Given the description of an element on the screen output the (x, y) to click on. 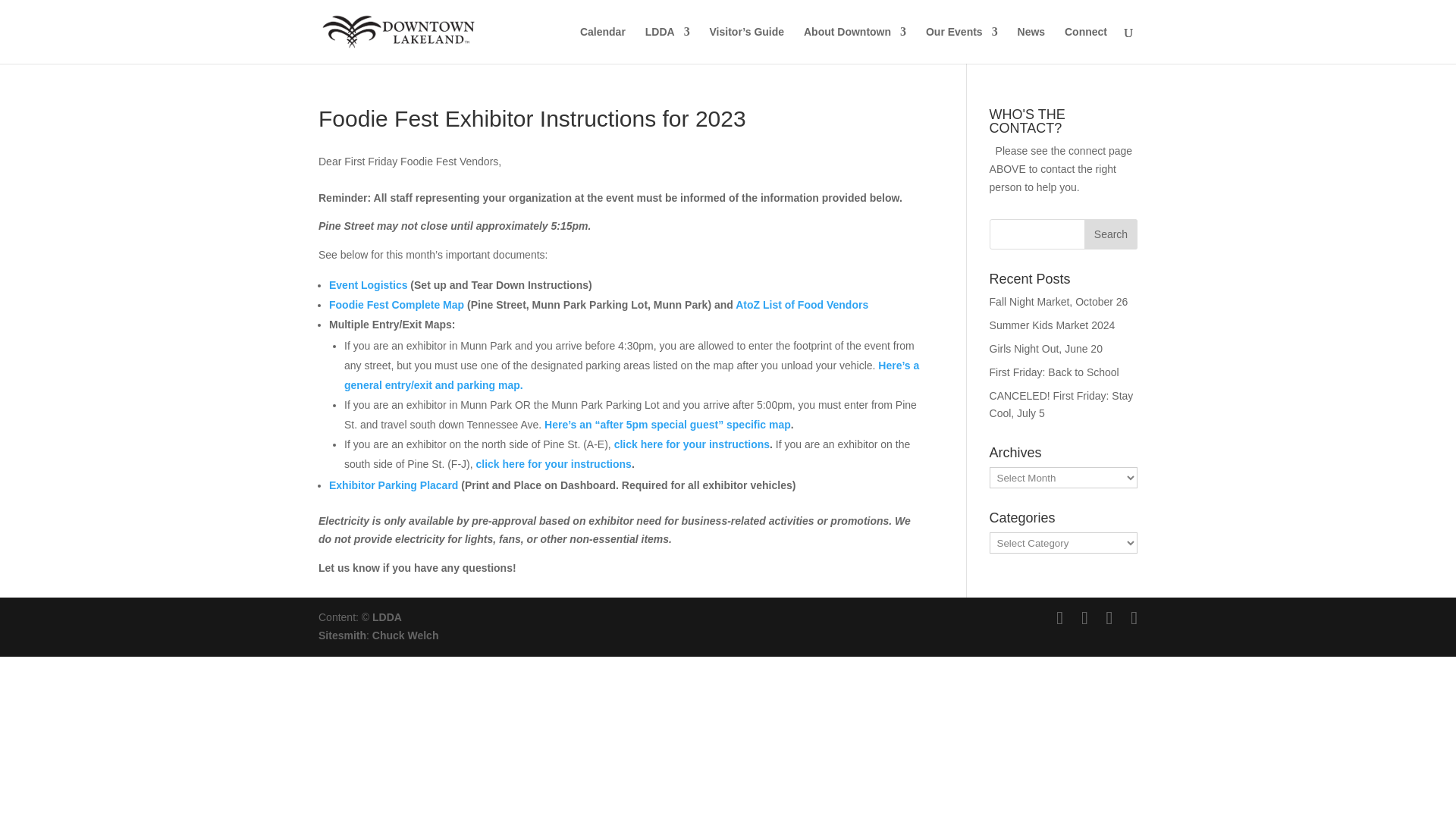
Our Events (961, 44)
Calendar (602, 44)
Search (1110, 234)
LDDA (667, 44)
Connect (1085, 44)
About Downtown (854, 44)
